Given the description of an element on the screen output the (x, y) to click on. 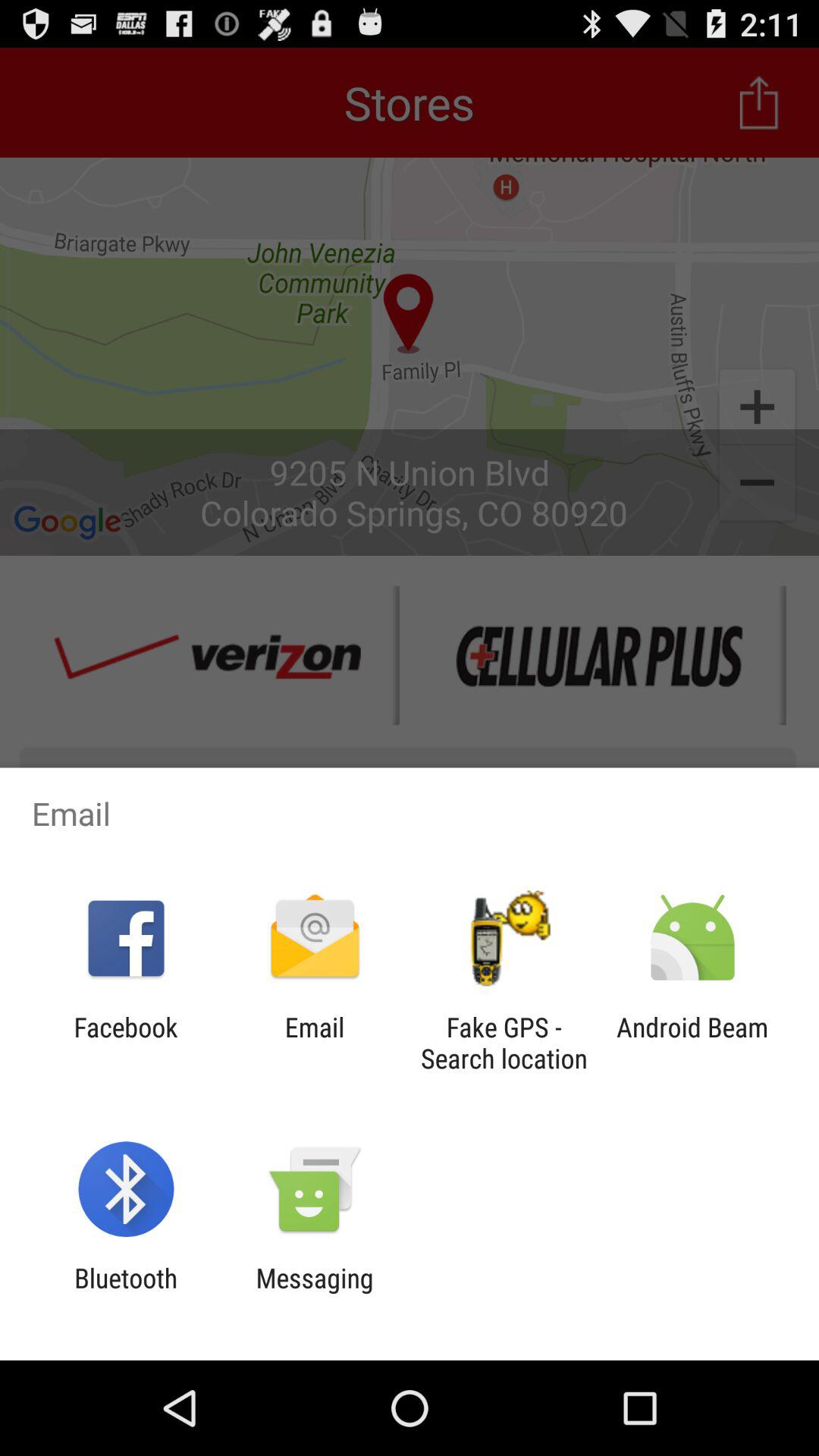
turn off item next to messaging app (125, 1293)
